Given the description of an element on the screen output the (x, y) to click on. 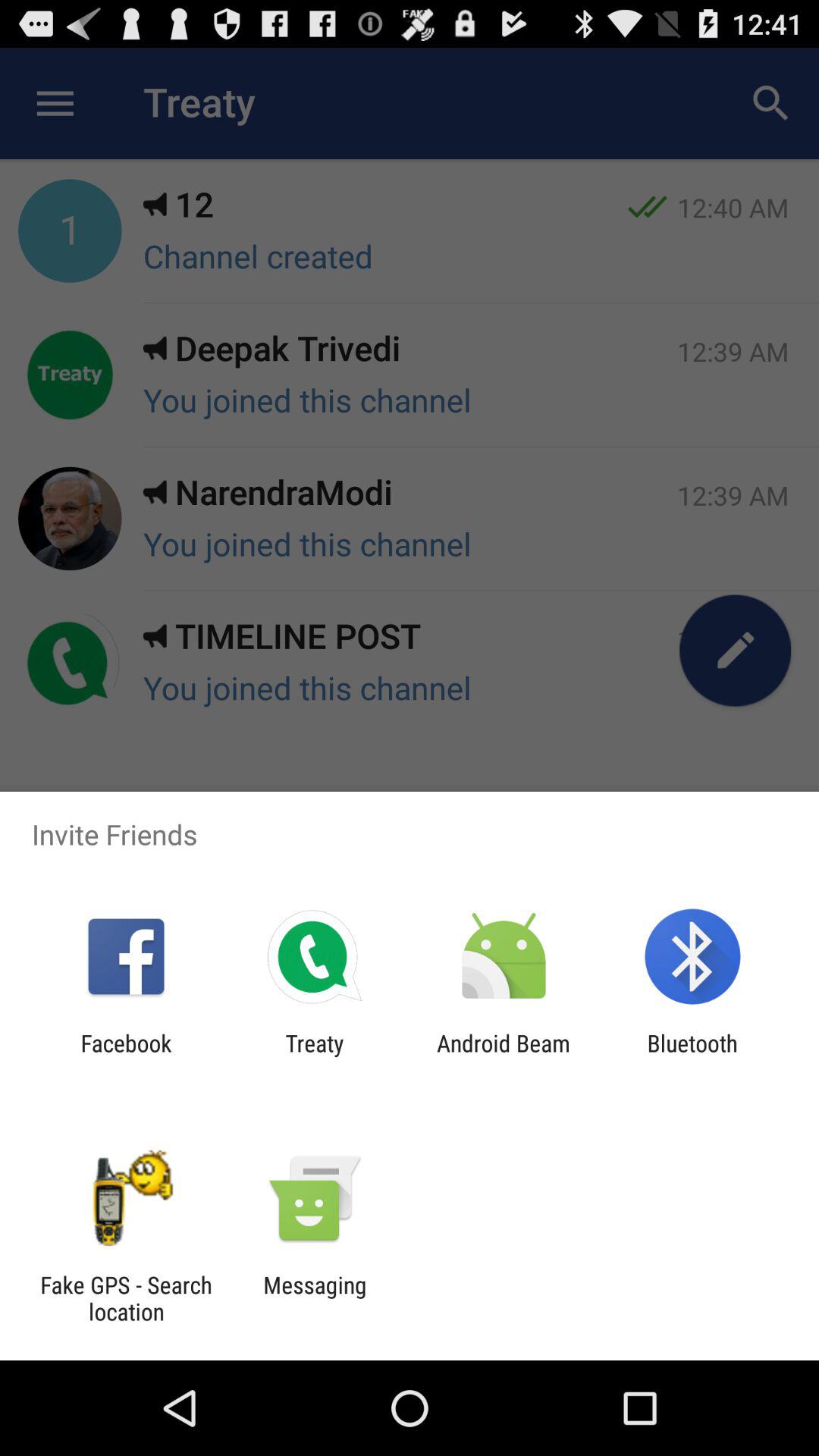
press the icon to the left of the android beam (314, 1056)
